Given the description of an element on the screen output the (x, y) to click on. 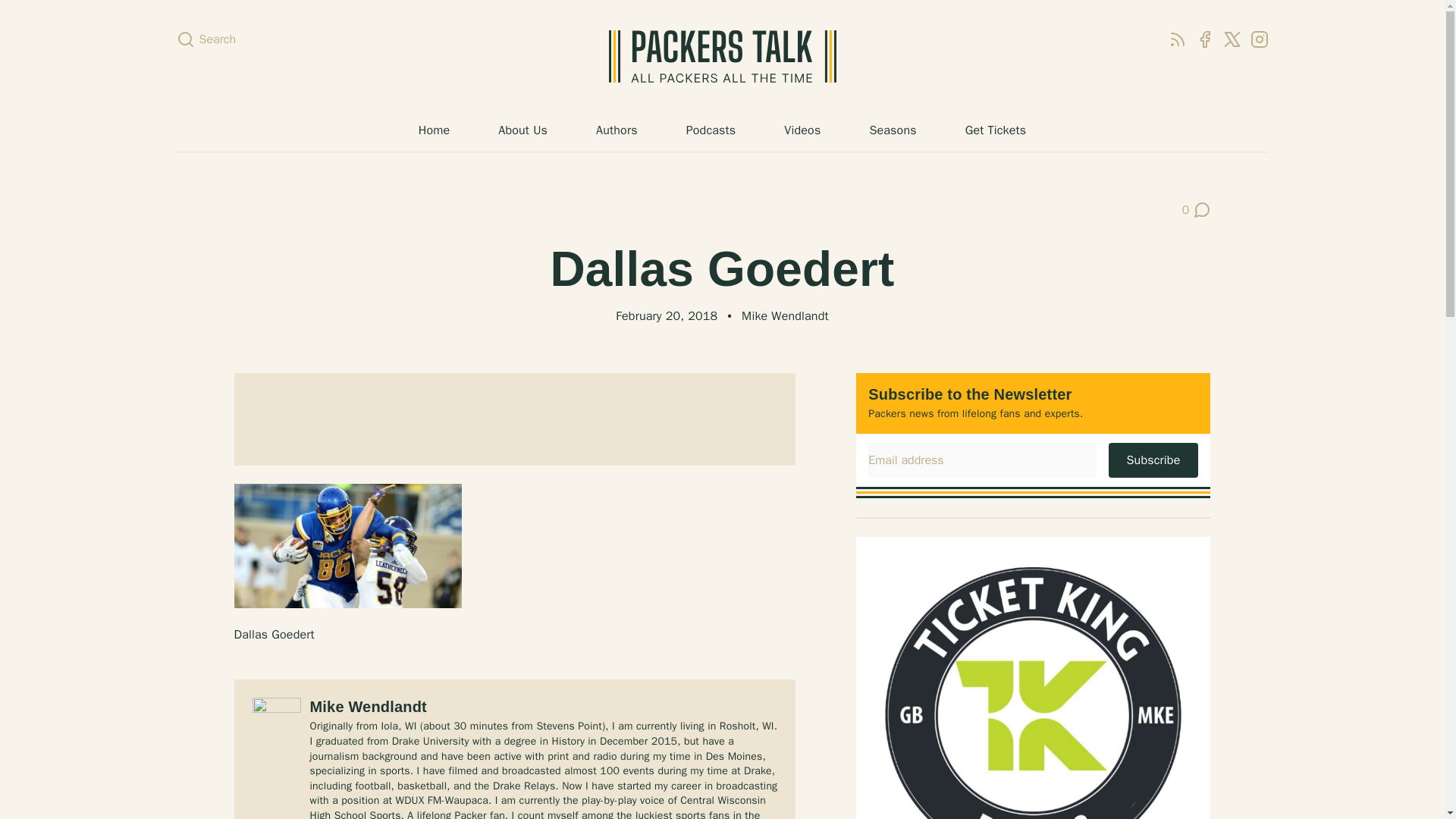
Mike Wendlandt (784, 315)
Videos (802, 129)
Subscribe (1153, 460)
RSS (1176, 39)
Podcasts (710, 129)
Subscribe (1153, 460)
PackersTalk on Instagram (1258, 39)
Get Tickets (995, 129)
PackersTalk.com Blog Posts and Podcasts (722, 56)
Advertisement (514, 418)
About Us (1196, 209)
PackersTalk RSS Feed (522, 129)
Authors (1176, 39)
Instagram (616, 129)
